Given the description of an element on the screen output the (x, y) to click on. 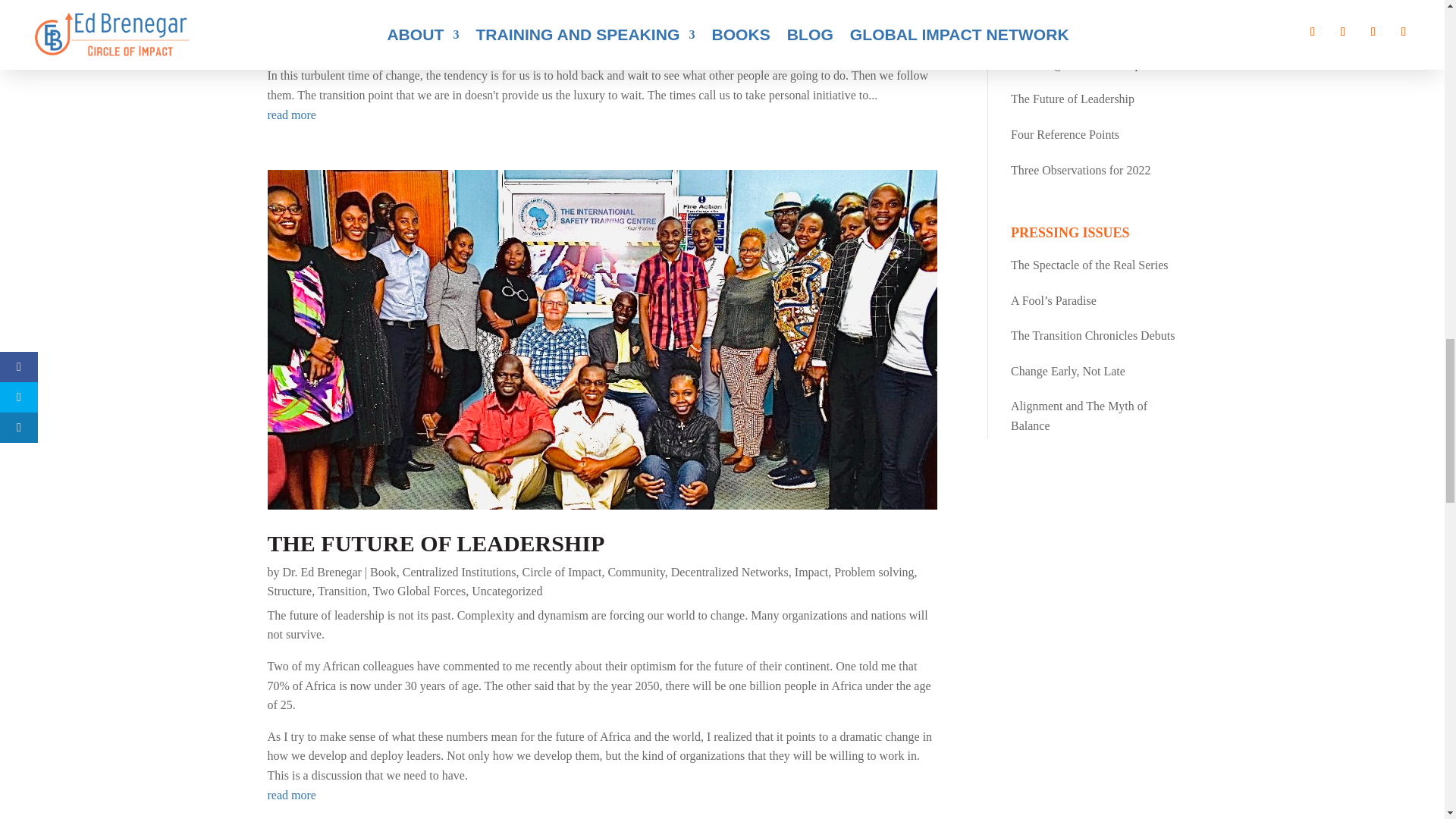
Posts by Dr. Ed Brenegar (321, 51)
Posts by Dr. Ed Brenegar (321, 571)
